Given the description of an element on the screen output the (x, y) to click on. 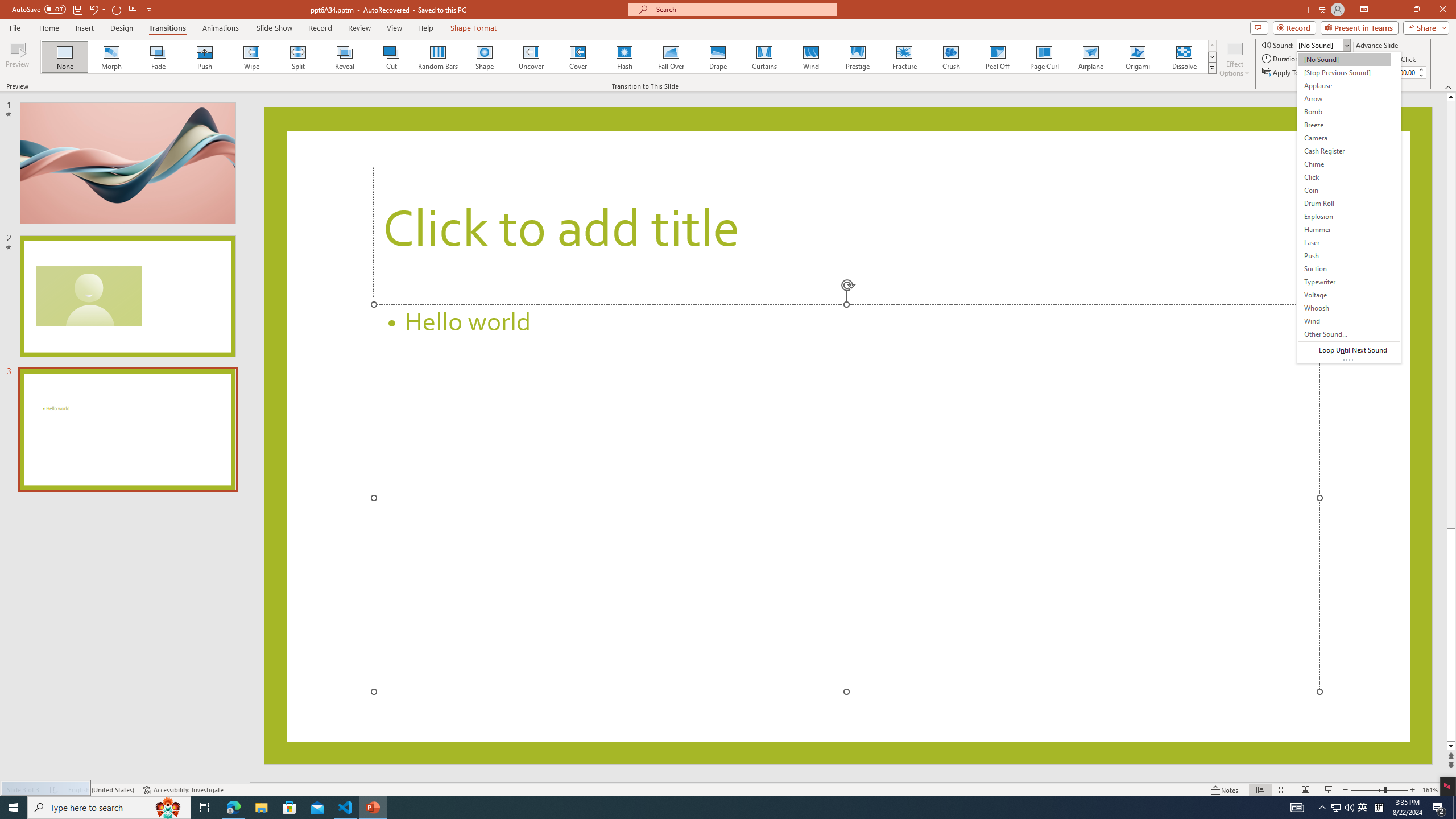
Crush (950, 56)
Curtains (764, 56)
Wind (810, 56)
